Given the description of an element on the screen output the (x, y) to click on. 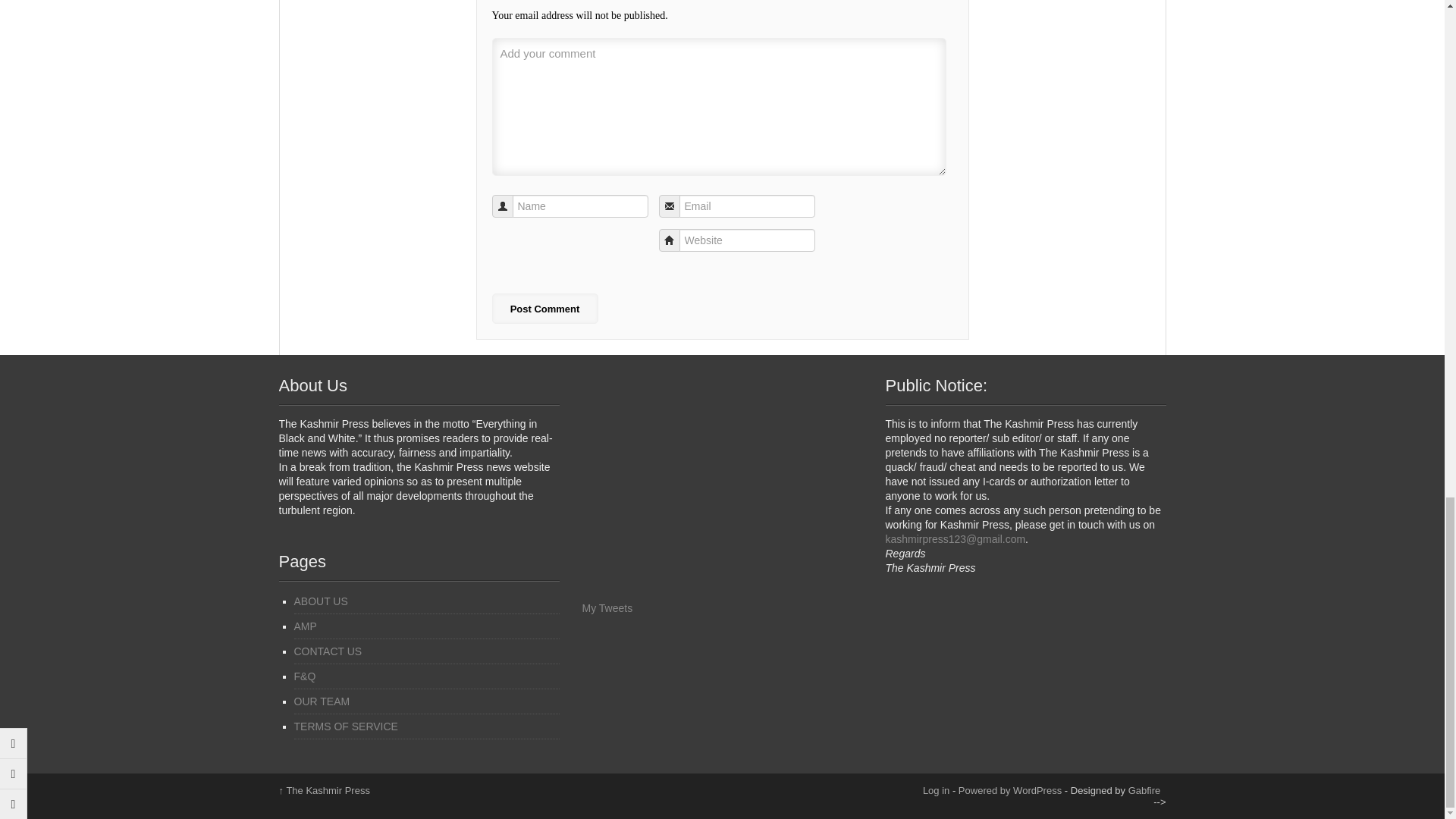
Post Comment (544, 308)
